Given the description of an element on the screen output the (x, y) to click on. 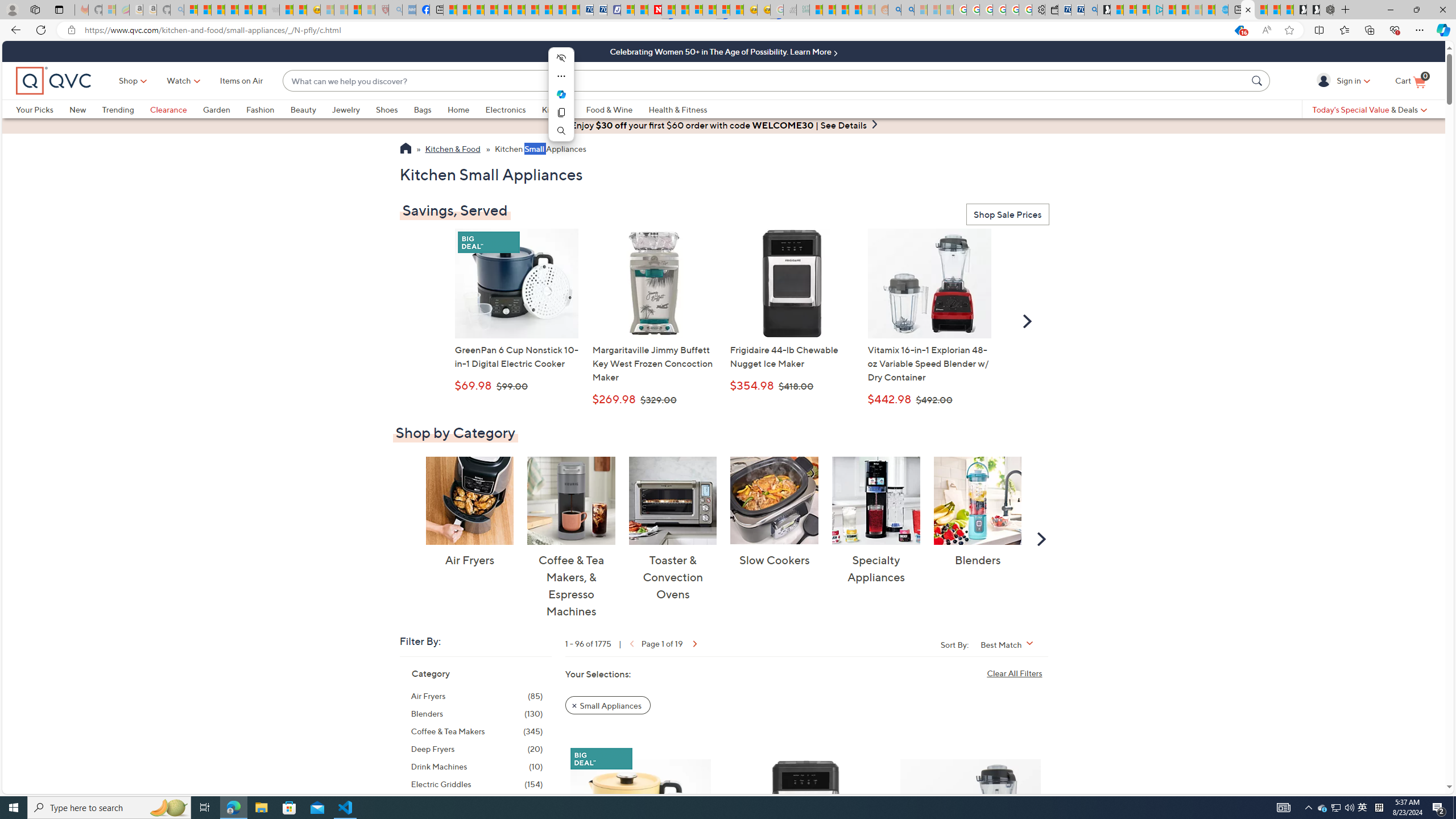
Trending (117, 109)
Kitchen (563, 109)
Specialty Appliances (875, 500)
Beauty (302, 109)
Kitchen & Food (452, 149)
Sort By Best Match (1011, 644)
More actions (560, 76)
Blenders, 130 items (476, 713)
Trusted Community Engagement and Contributions | Guidelines (667, 9)
New (84, 109)
Coffee & Tea Makers, & Espresso Machines (571, 500)
